Given the description of an element on the screen output the (x, y) to click on. 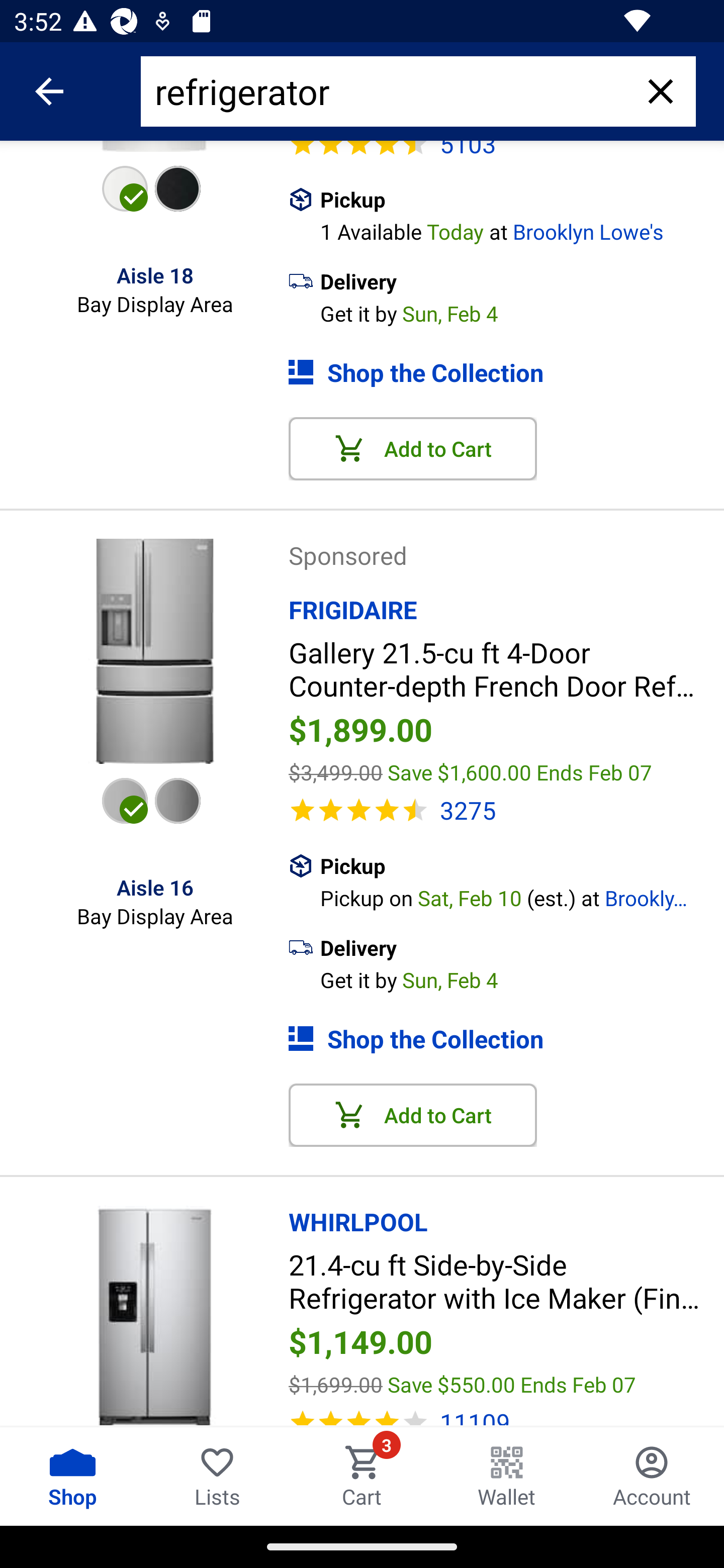
Navigate up (49, 91)
refrigerator (389, 91)
1 Available Today  at  Brooklyn Lowe's (522, 229)
Shop the Collection (506, 371)
Add to Cart (412, 448)
Pickup on Sat, Feb 10 (est.)  at  Brooklyn Lowe's (522, 895)
Shop the Collection (506, 1038)
Add to Cart (412, 1114)
Lists (216, 1475)
Cart Cart 3 (361, 1475)
Wallet (506, 1475)
Account (651, 1475)
